Given the description of an element on the screen output the (x, y) to click on. 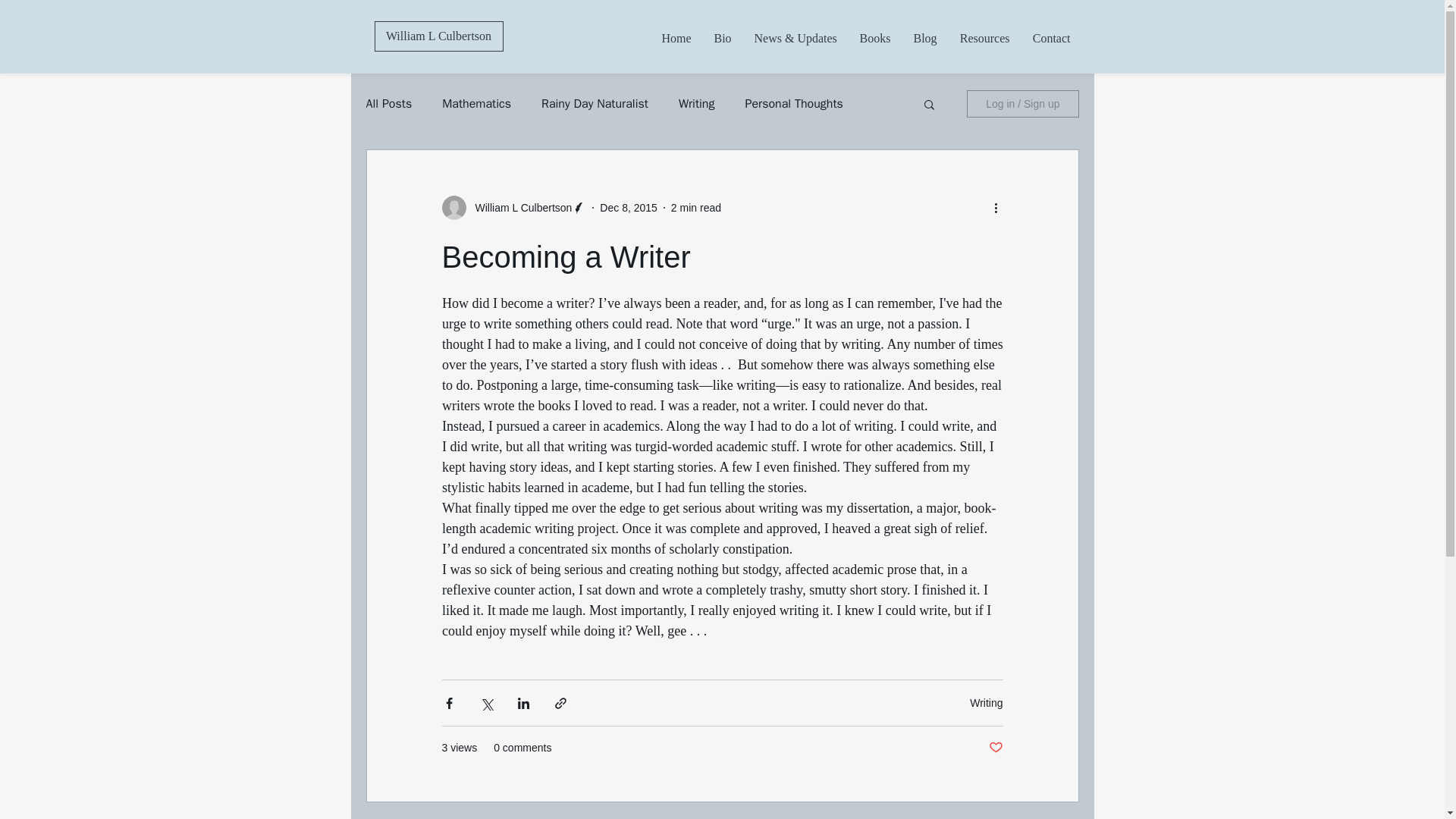
Personal Thoughts (793, 103)
Writing (696, 103)
Rainy Day Naturalist (594, 103)
Books (874, 37)
Mathematics (476, 103)
Resources (983, 37)
Contact (1050, 37)
Writing (986, 702)
2 min read (695, 207)
Blog (925, 37)
William L Culbertson (518, 207)
Home (676, 37)
All Posts (388, 103)
Post not marked as liked (995, 747)
William L Culbertson (438, 36)
